Given the description of an element on the screen output the (x, y) to click on. 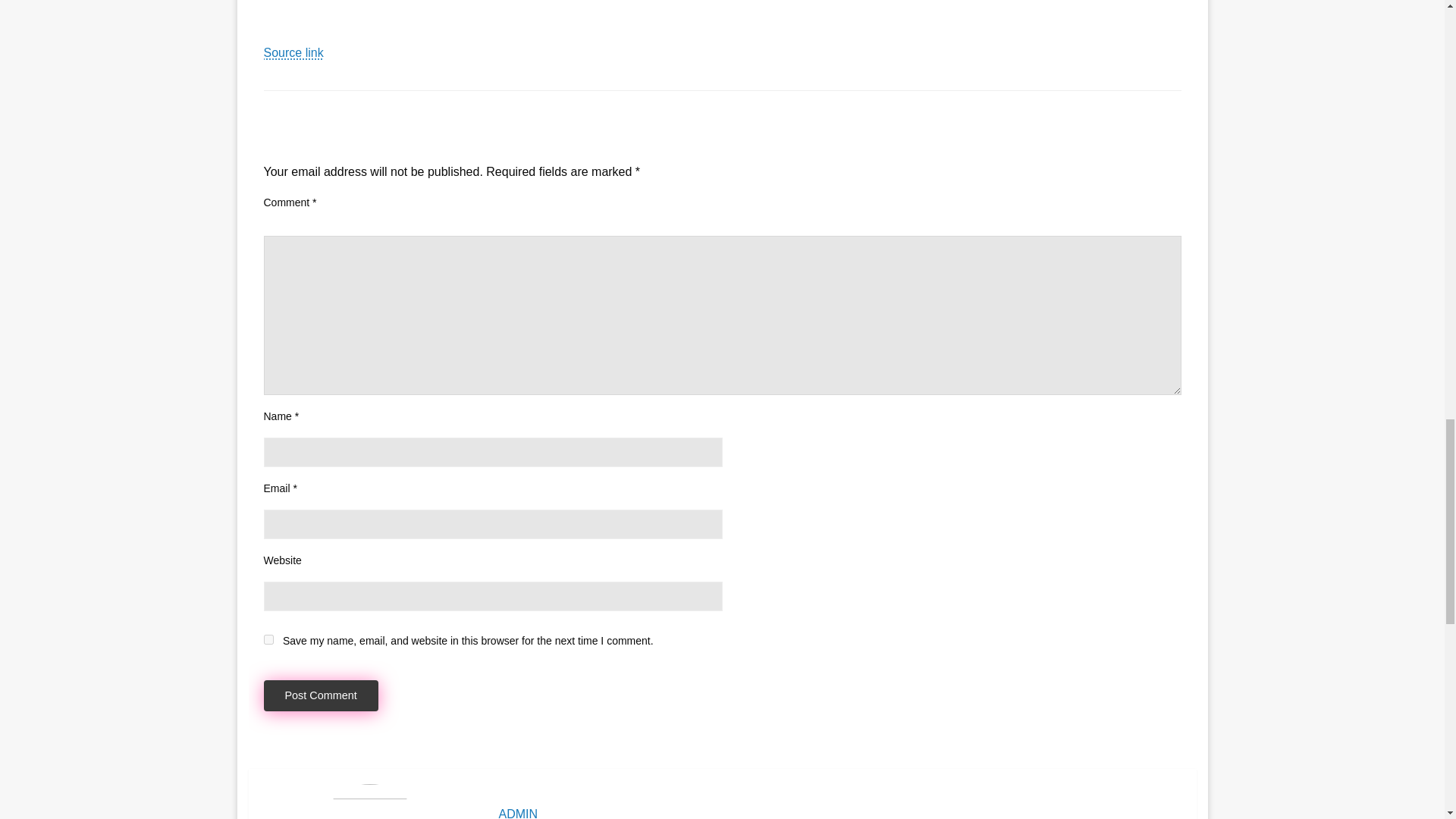
Source link (293, 51)
Post Comment (320, 695)
More by Rough Draft (487, 4)
Post Comment (320, 695)
ADMIN (839, 812)
ADMIN (839, 812)
yes (268, 639)
